Given the description of an element on the screen output the (x, y) to click on. 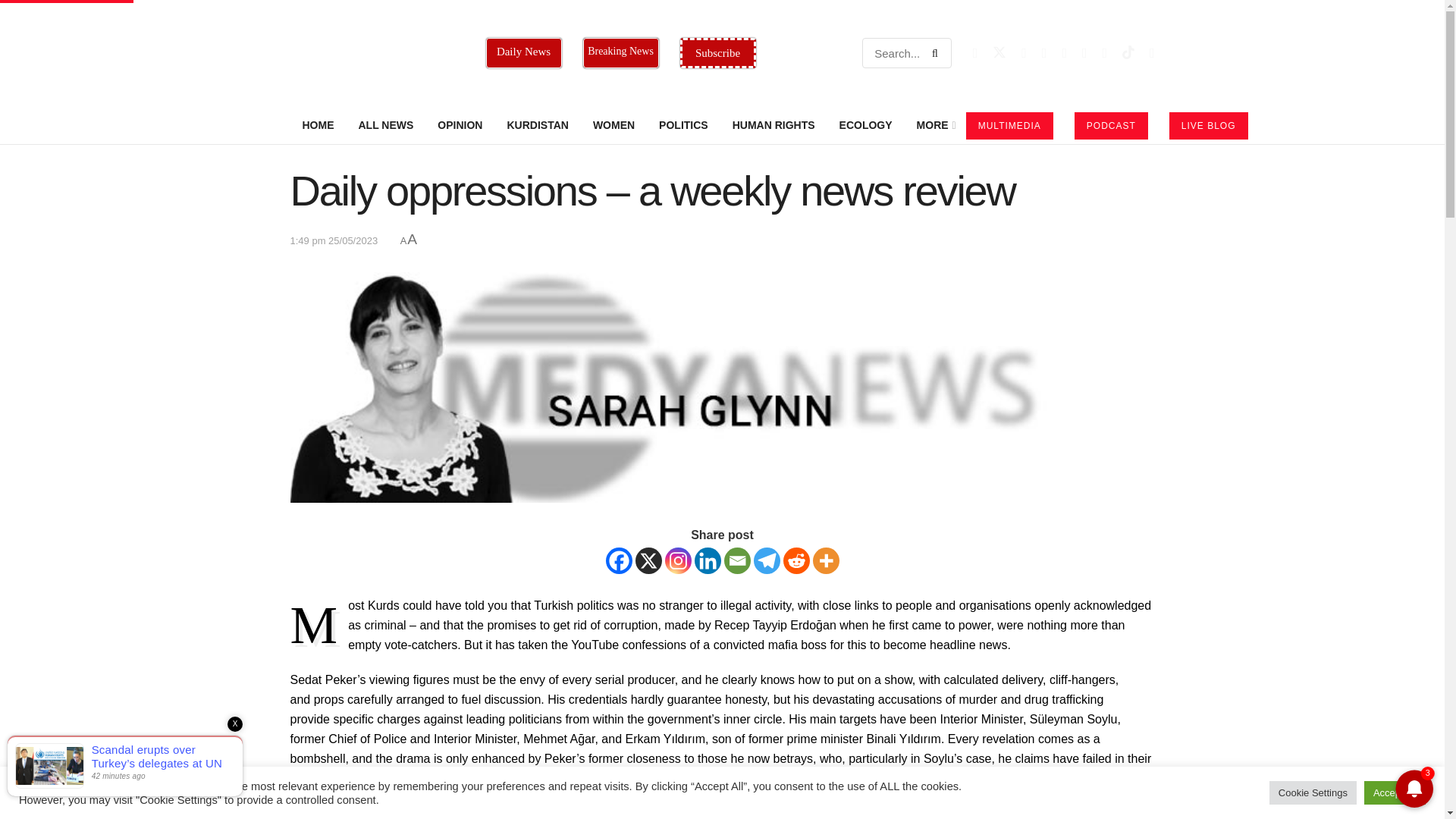
ECOLOGY (865, 125)
WOMEN (613, 125)
KURDISTAN (537, 125)
Subscribe (717, 52)
Instagram (676, 560)
Linkedin (707, 560)
Email (736, 560)
Telegram (767, 560)
HUMAN RIGHTS (773, 125)
LIVE BLOG (1208, 125)
ALL NEWS (385, 125)
Breaking News (620, 52)
MULTIMEDIA (1009, 125)
Facebook (618, 560)
OPINION (460, 125)
